Given the description of an element on the screen output the (x, y) to click on. 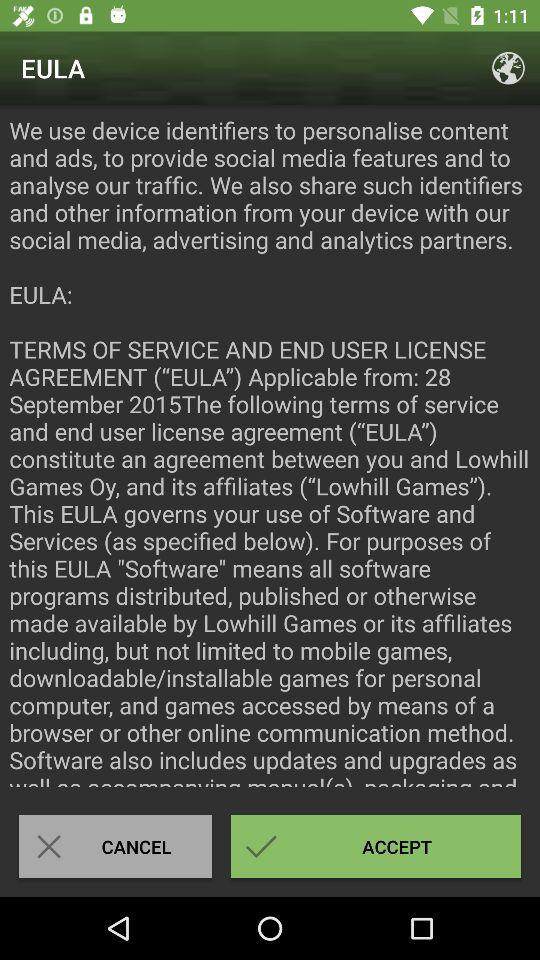
press icon below we use device (115, 846)
